Given the description of an element on the screen output the (x, y) to click on. 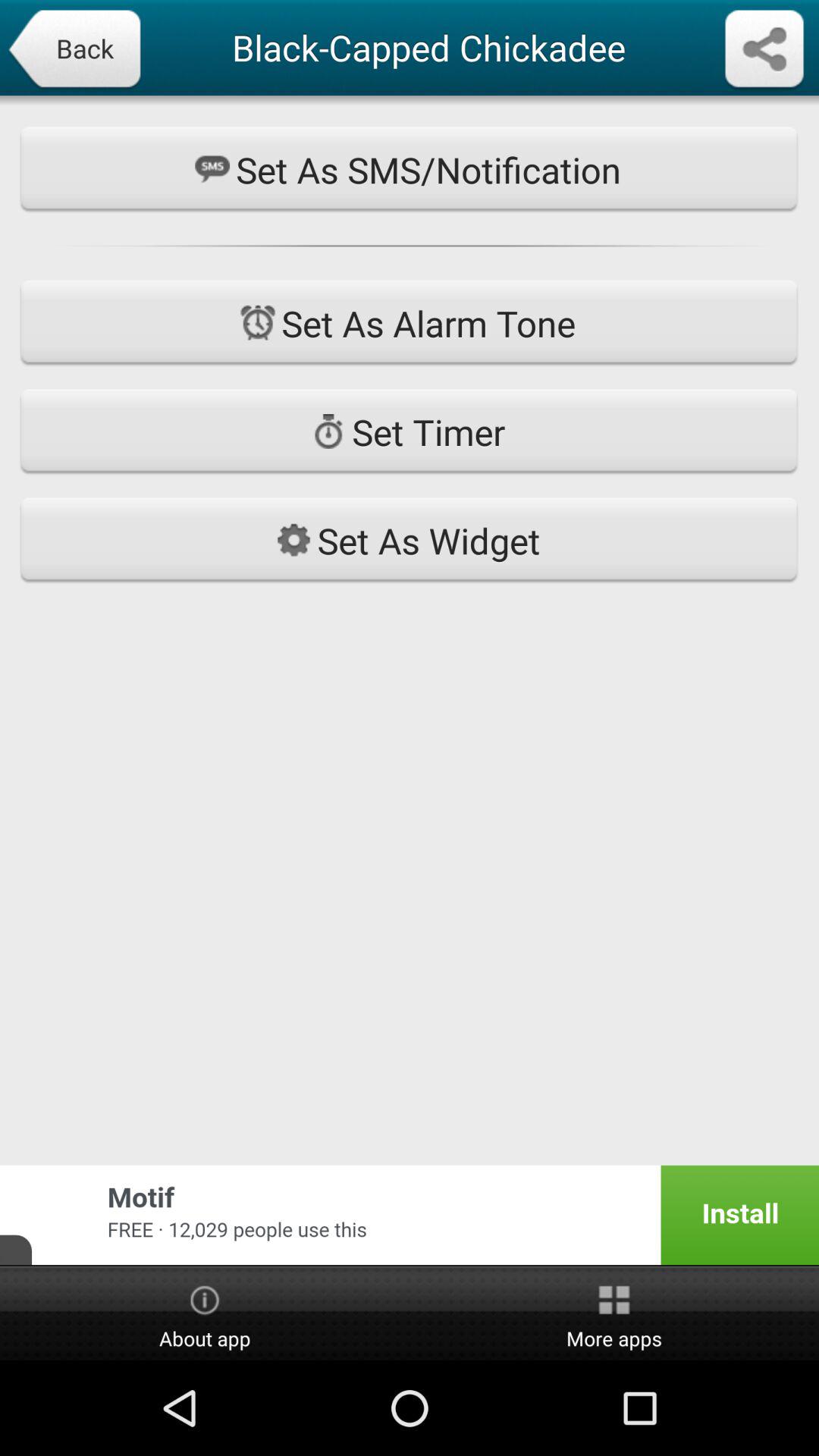
open the item to the left of the black-capped chickadee app (73, 50)
